Given the description of an element on the screen output the (x, y) to click on. 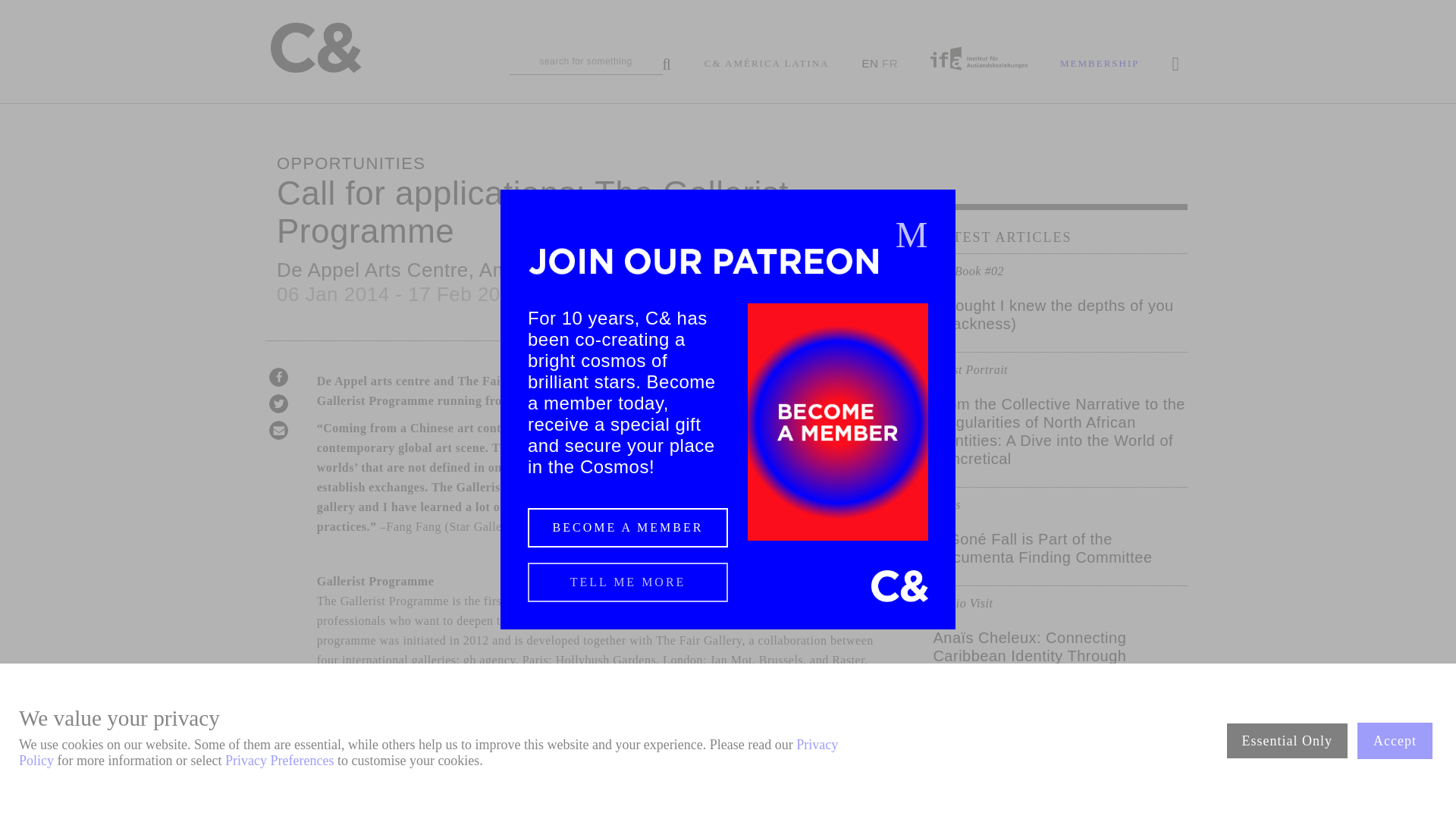
EN (869, 62)
search for something (590, 65)
FR (890, 62)
MEMBERSHIP (1099, 63)
